Given the description of an element on the screen output the (x, y) to click on. 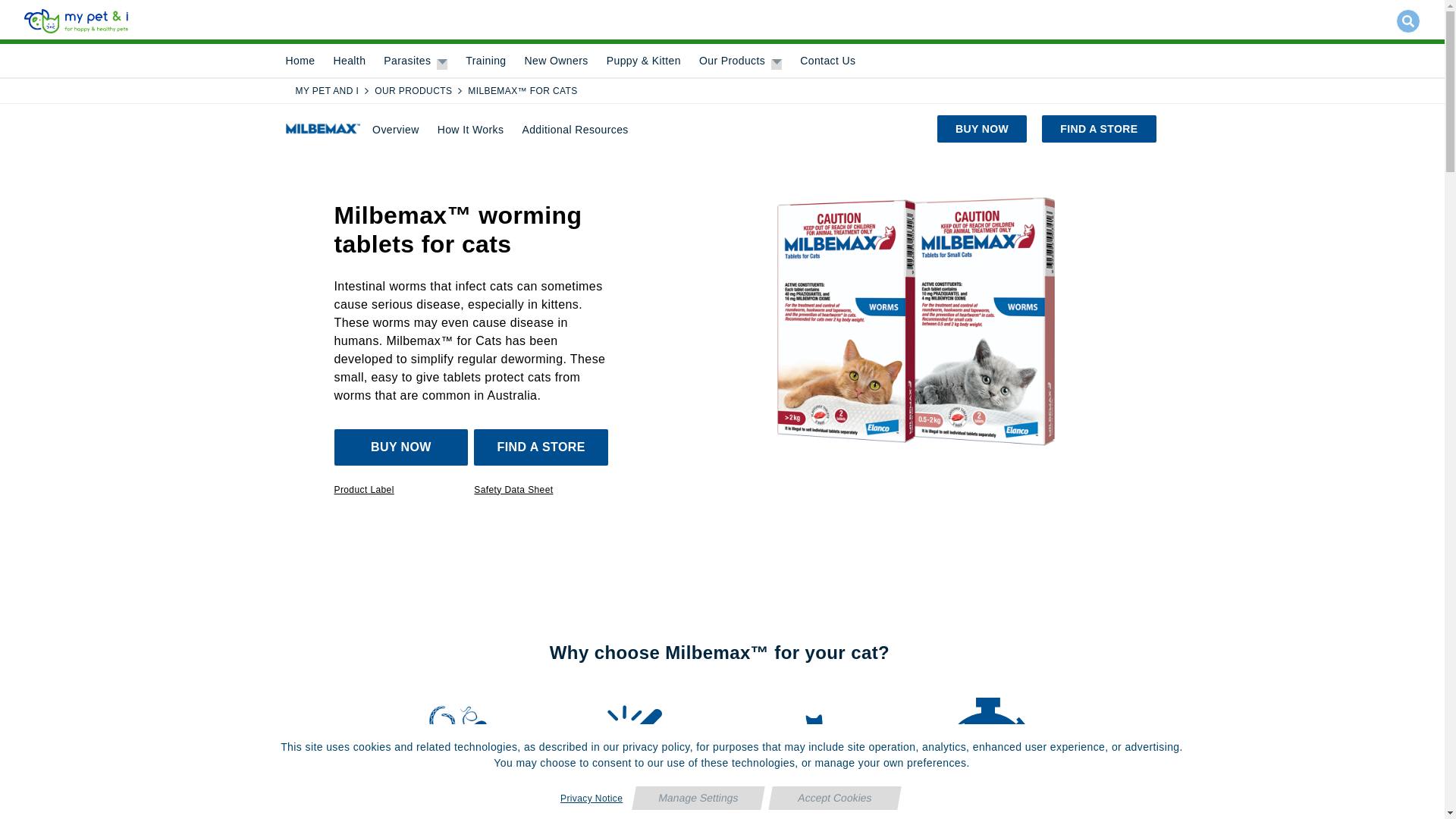
Training (485, 60)
Contact Us (827, 60)
Health (349, 60)
MY PET AND I (327, 90)
Privacy Notice (591, 798)
Our Products (731, 60)
Accept Cookies (832, 797)
Manage Settings (695, 797)
OUR PRODUCTS (412, 90)
Search button (1408, 21)
Parasites (407, 60)
New Owners (556, 60)
